Given the description of an element on the screen output the (x, y) to click on. 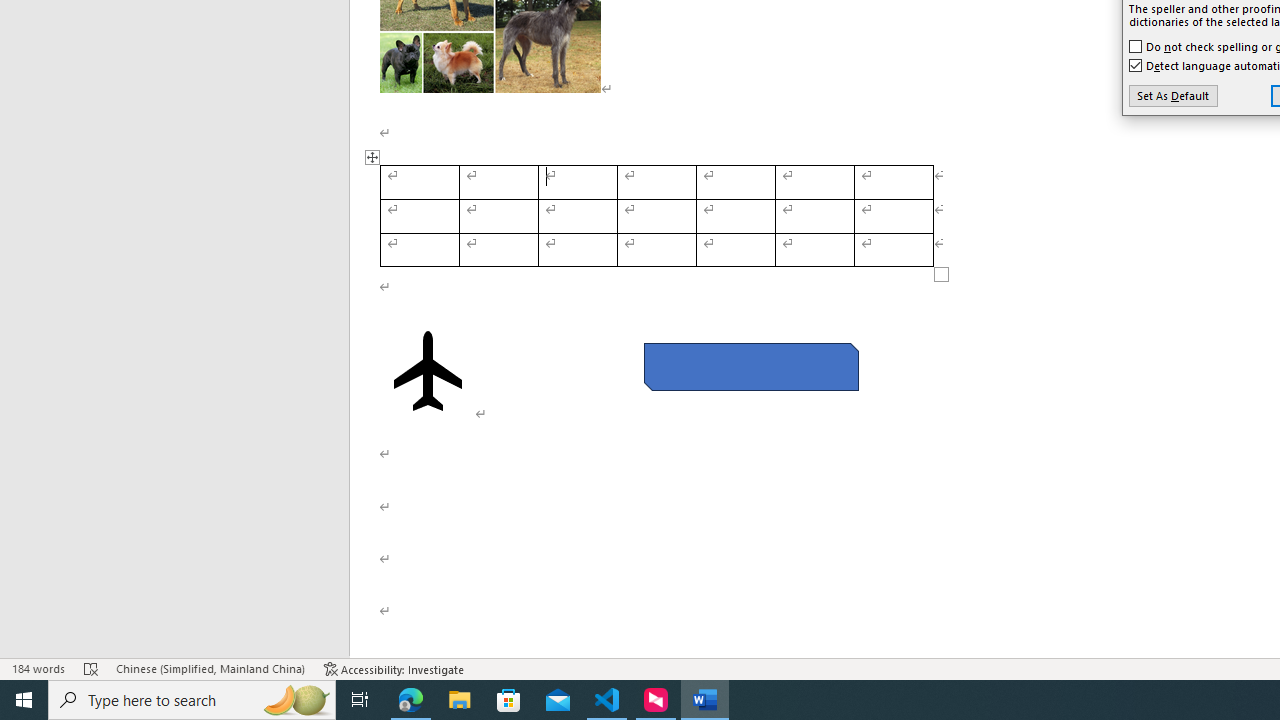
Type here to search (191, 699)
Start (24, 699)
Microsoft Store (509, 699)
Word - 1 running window (704, 699)
Search highlights icon opens search home window (295, 699)
File Explorer (460, 699)
Language Chinese (Simplified, Mainland China) (210, 668)
Visual Studio Code - 1 running window (607, 699)
Microsoft Edge - 1 running window (411, 699)
Word Count 184 words (37, 668)
Set As Default (1172, 96)
Accessibility Checker Accessibility: Investigate (394, 668)
